Given the description of an element on the screen output the (x, y) to click on. 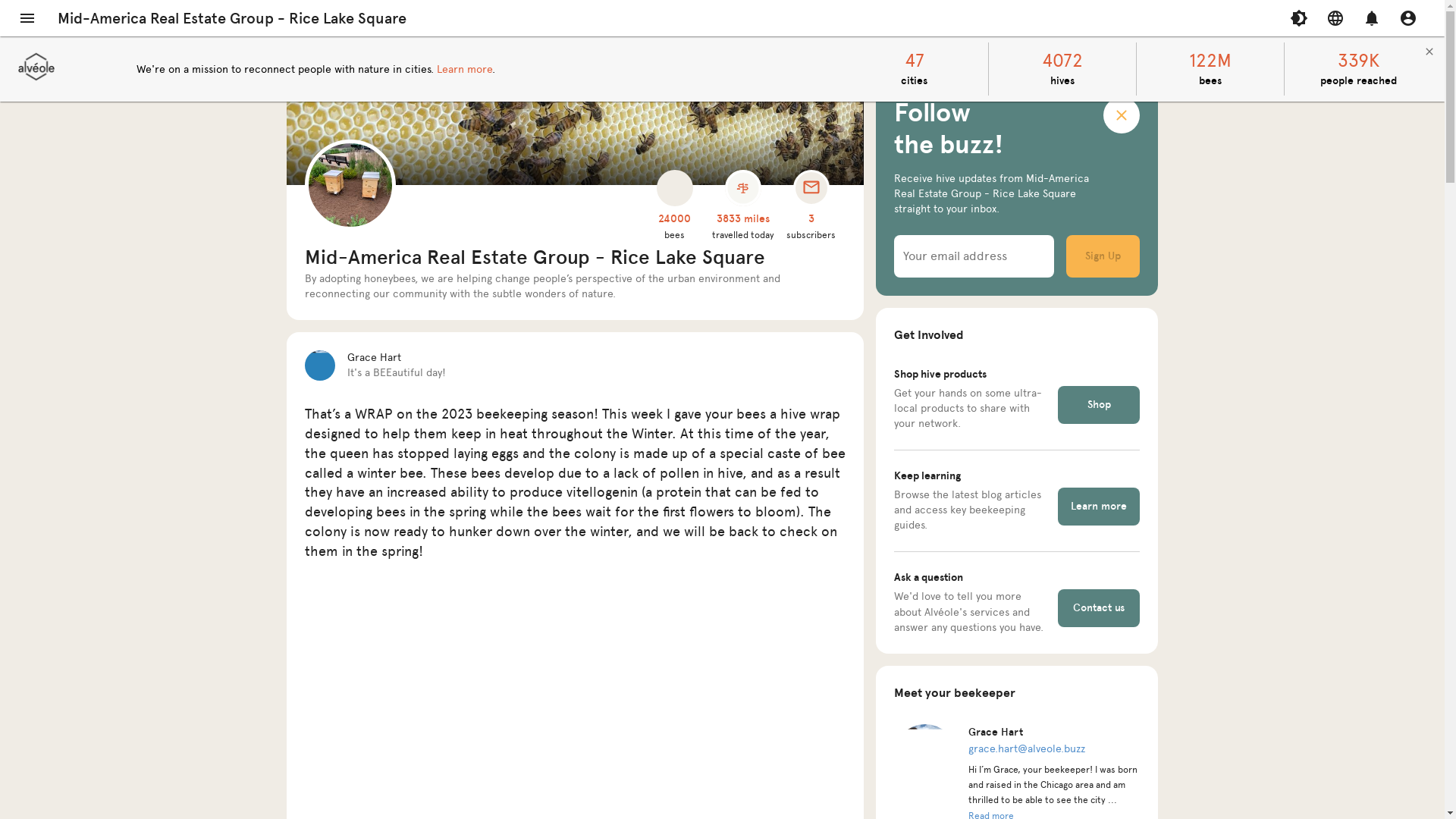
Contact us Element type: text (1098, 608)
Profile Element type: hover (1408, 18)
Sign Up Element type: text (1103, 256)
Shop Element type: text (1098, 404)
Language Element type: hover (1335, 18)
0 Element type: text (1371, 18)
Learn more Element type: text (1098, 506)
grace.hart@alveole.buzz Element type: text (1026, 748)
Dark mode Element type: hover (1298, 18)
Learn more Element type: text (464, 68)
